Given the description of an element on the screen output the (x, y) to click on. 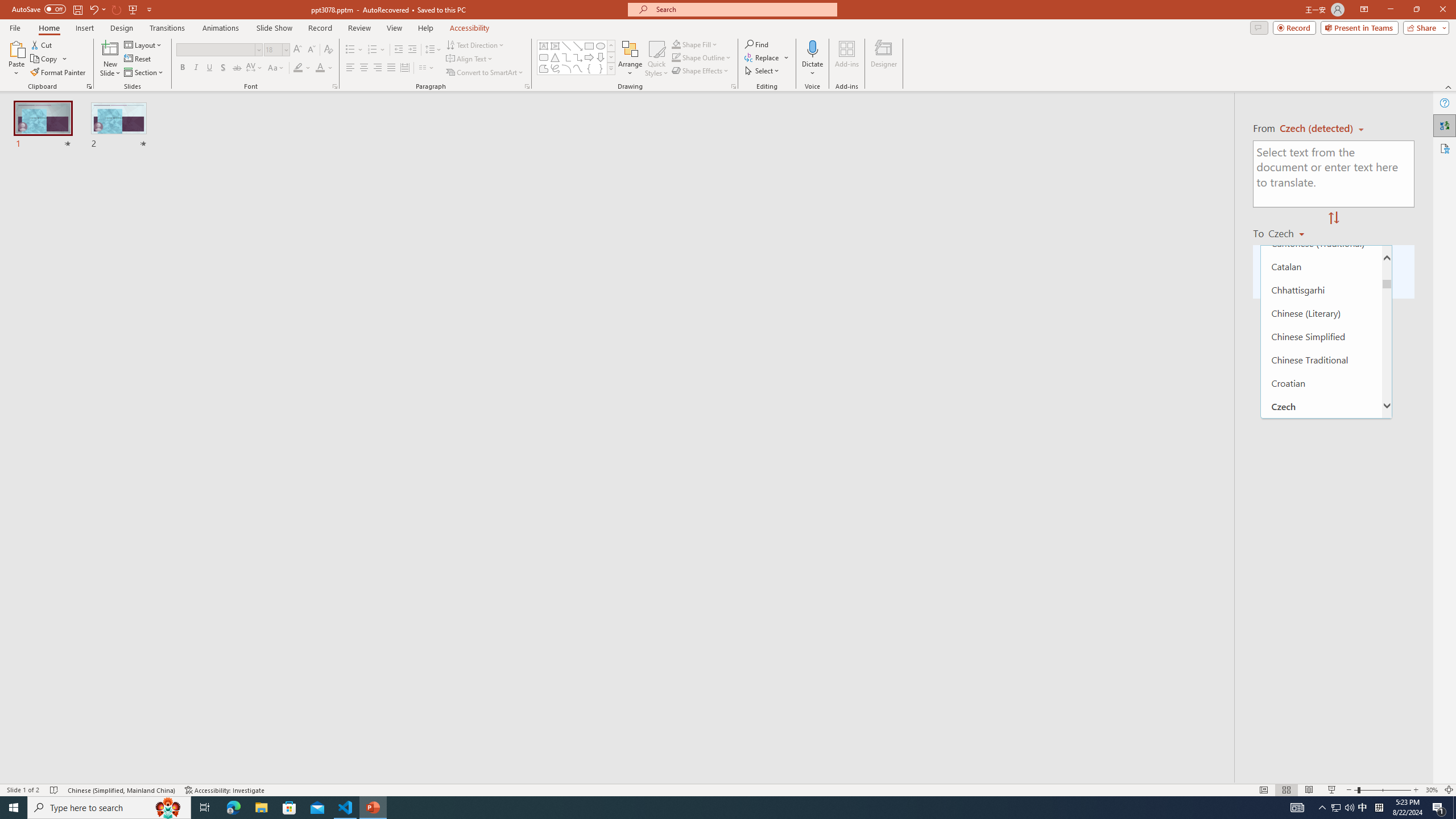
Divehi (1320, 475)
